Given the description of an element on the screen output the (x, y) to click on. 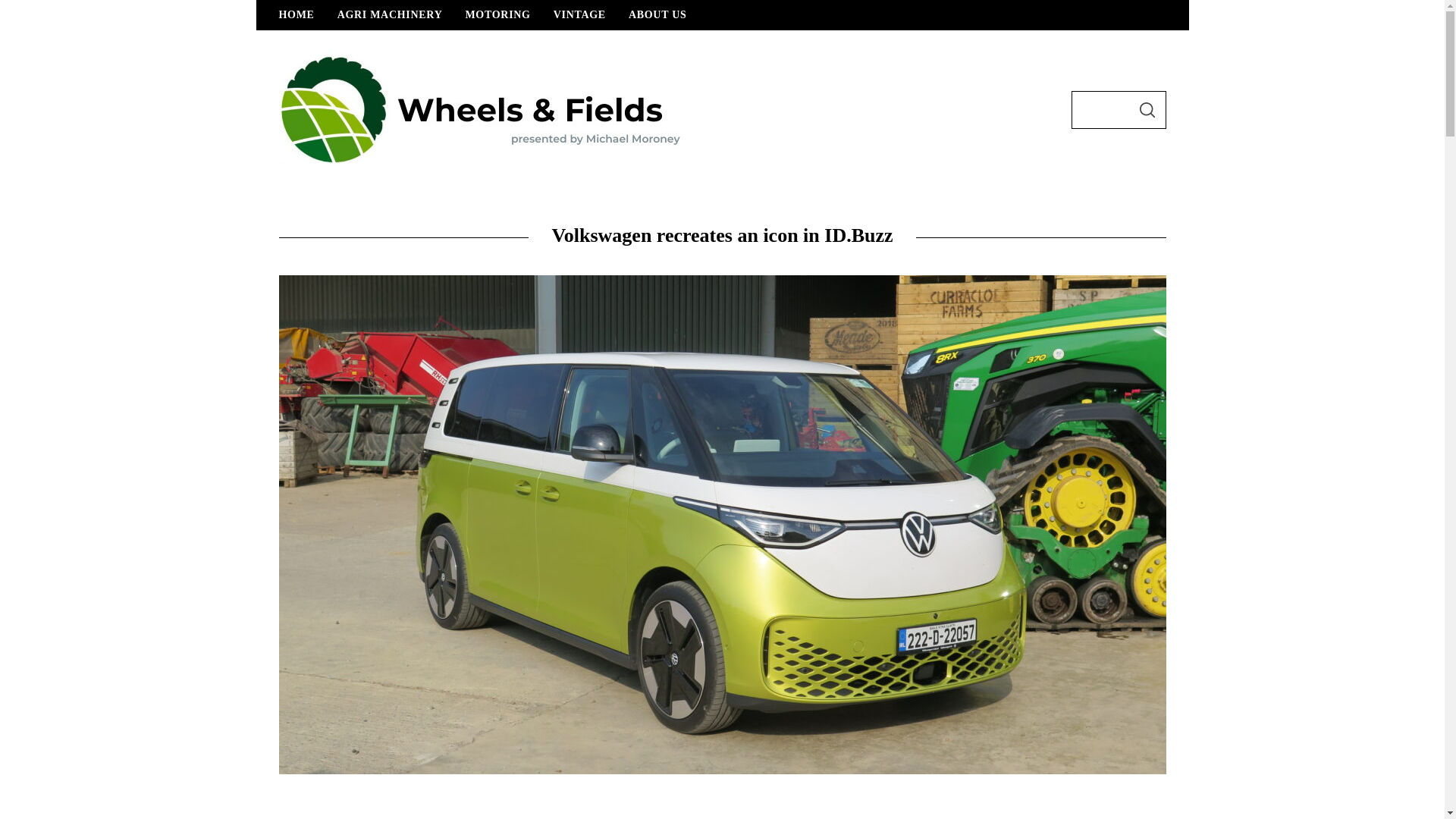
VINTAGE (579, 14)
HOME (295, 14)
AGRI MACHINERY (390, 14)
MOTORING (496, 14)
ABOUT US (657, 14)
